Given the description of an element on the screen output the (x, y) to click on. 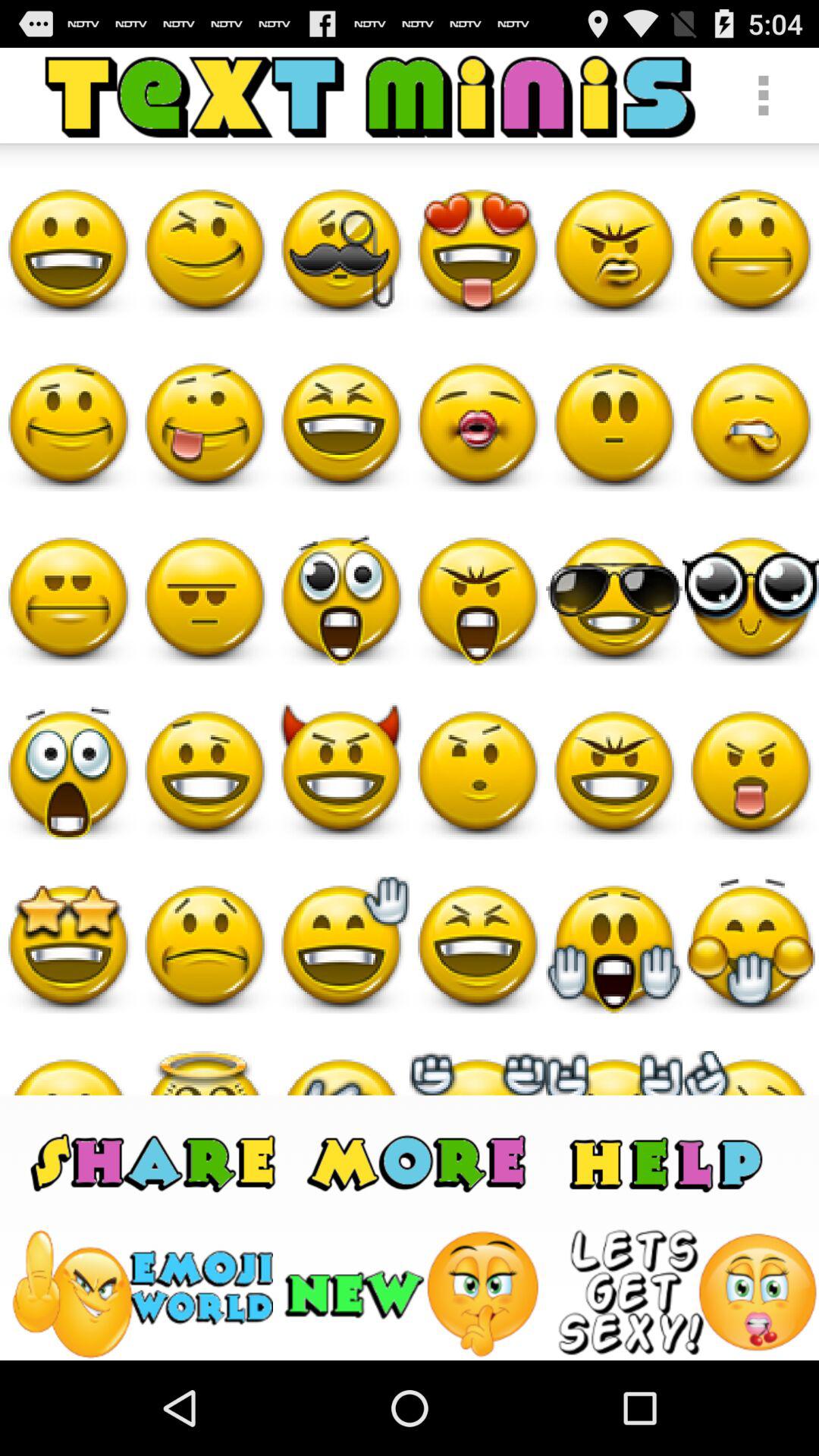
help icon (665, 1161)
